Given the description of an element on the screen output the (x, y) to click on. 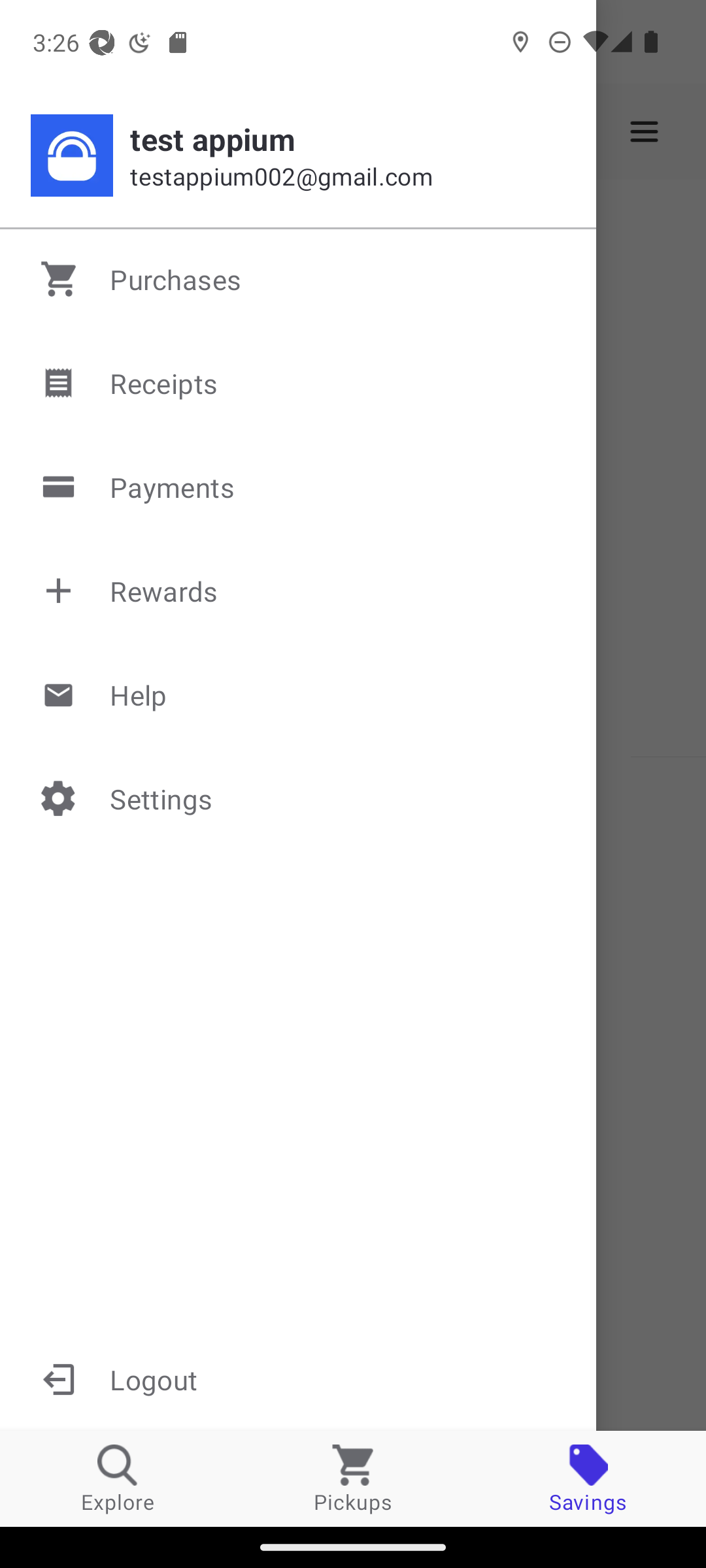
Purchases (299, 278)
Receipts (299, 382)
Payments (299, 487)
Rewards (299, 590)
Help (299, 694)
Settings (299, 797)
Logout (297, 1379)
Explore (117, 1478)
Pickups (352, 1478)
